Given the description of an element on the screen output the (x, y) to click on. 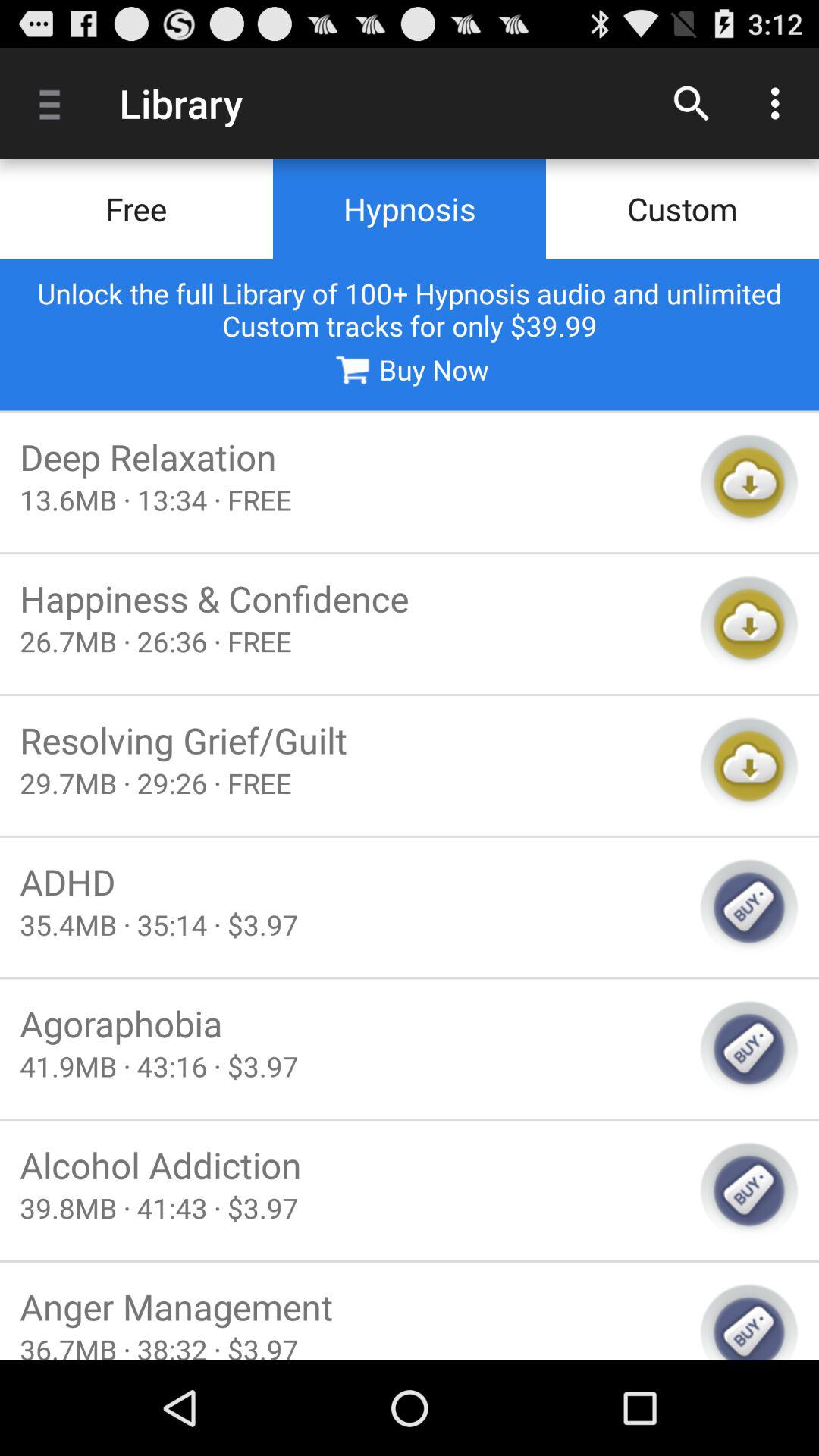
purchase option (749, 1190)
